Given the description of an element on the screen output the (x, y) to click on. 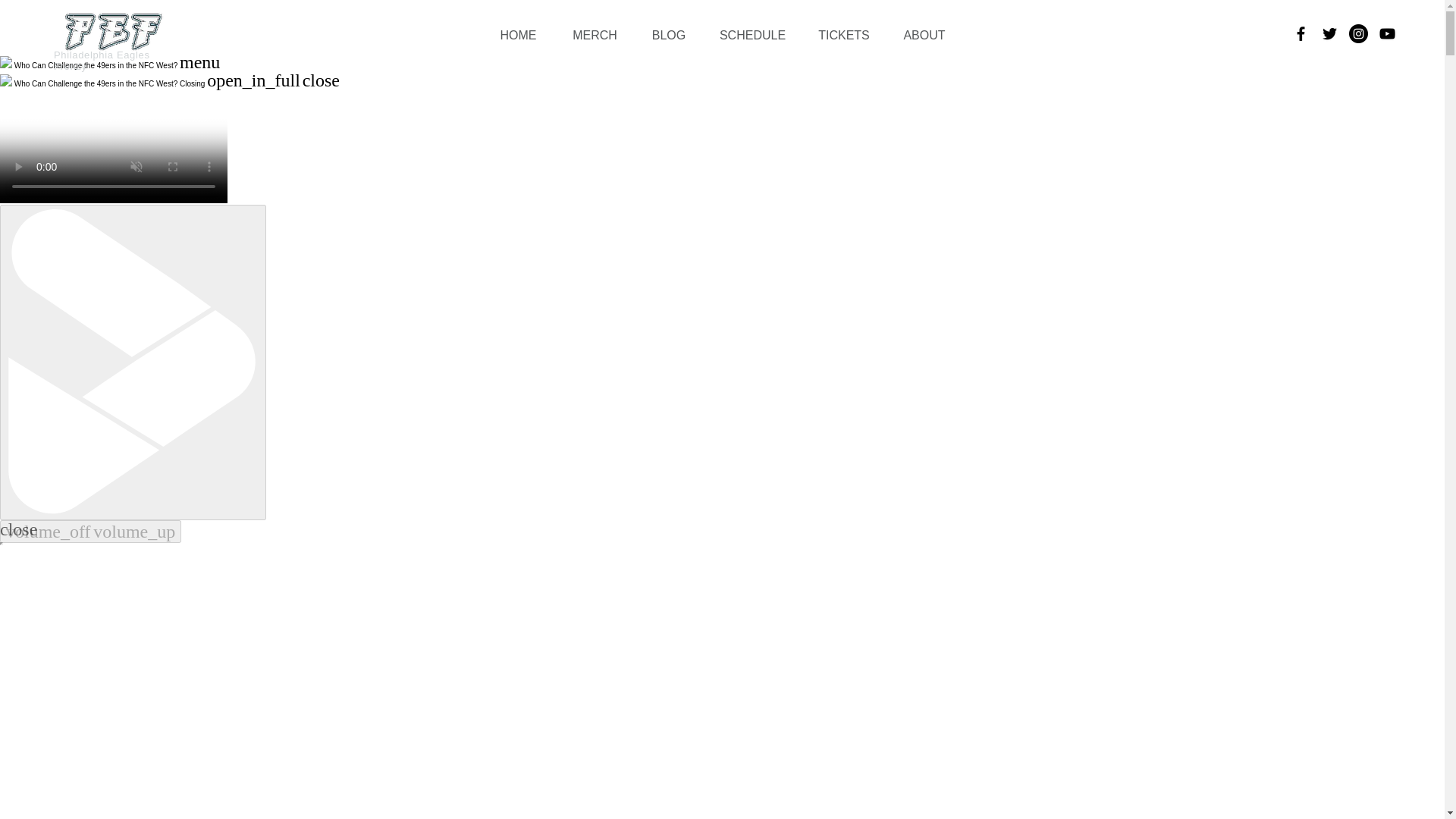
HOME (517, 35)
BLOG (668, 35)
TICKETS (843, 35)
SCHEDULE (752, 35)
